Given the description of an element on the screen output the (x, y) to click on. 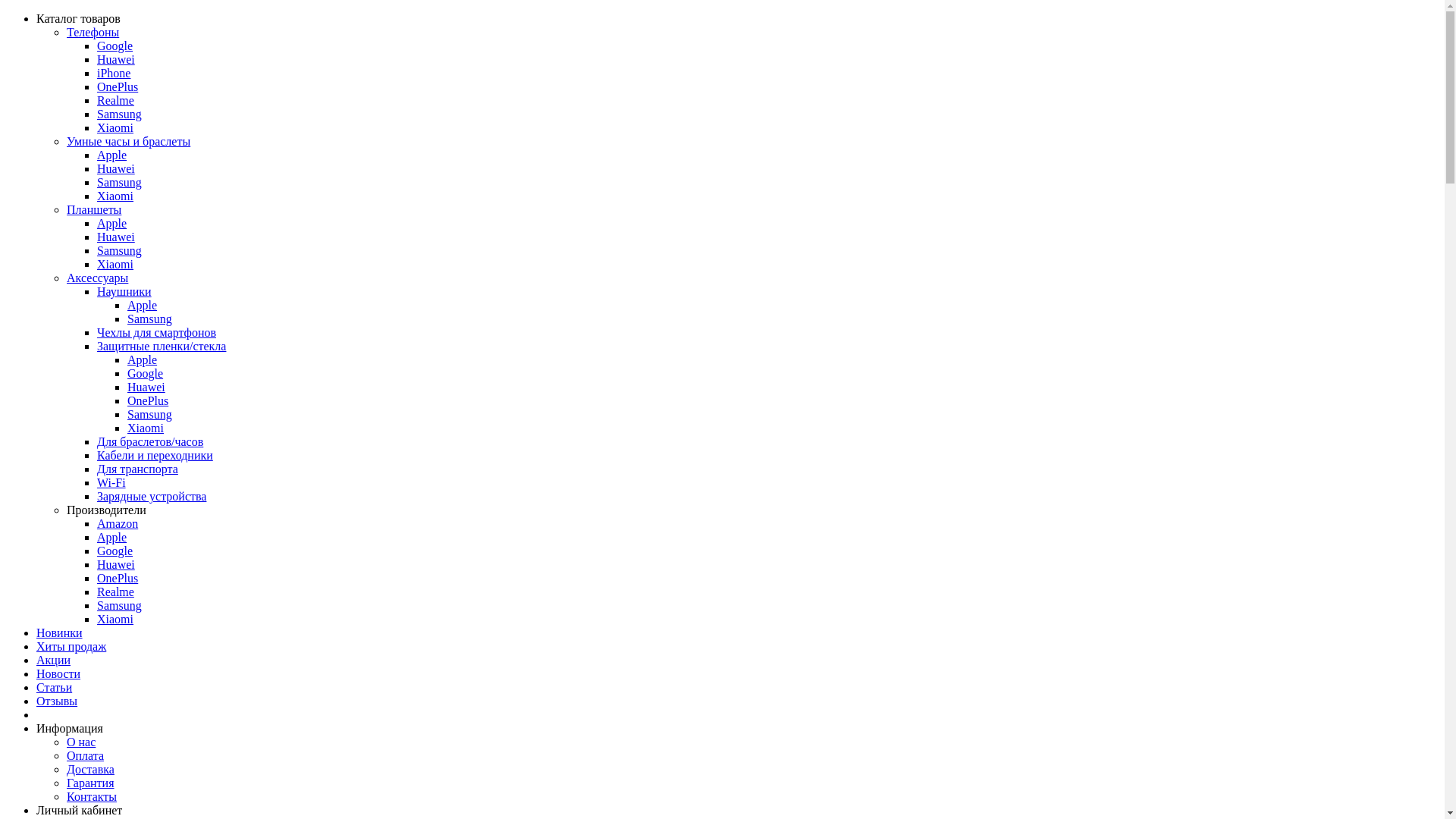
Realme Element type: text (115, 100)
Apple Element type: text (141, 304)
Huawei Element type: text (115, 564)
Samsung Element type: text (119, 250)
Xiaomi Element type: text (145, 427)
Apple Element type: text (111, 536)
Google Element type: text (145, 373)
Google Element type: text (114, 45)
Samsung Element type: text (149, 413)
Huawei Element type: text (115, 168)
Samsung Element type: text (119, 605)
OnePlus Element type: text (117, 577)
iPhone Element type: text (113, 72)
Huawei Element type: text (115, 236)
Samsung Element type: text (119, 181)
Google Element type: text (114, 550)
OnePlus Element type: text (147, 400)
Huawei Element type: text (146, 386)
Xiaomi Element type: text (115, 618)
Xiaomi Element type: text (115, 127)
Apple Element type: text (141, 359)
Xiaomi Element type: text (115, 195)
Samsung Element type: text (119, 113)
Wi-Fi Element type: text (111, 482)
Apple Element type: text (111, 154)
OnePlus Element type: text (117, 86)
Xiaomi Element type: text (115, 263)
Huawei Element type: text (115, 59)
Realme Element type: text (115, 591)
Apple Element type: text (111, 222)
Amazon Element type: text (117, 523)
Samsung Element type: text (149, 318)
